Given the description of an element on the screen output the (x, y) to click on. 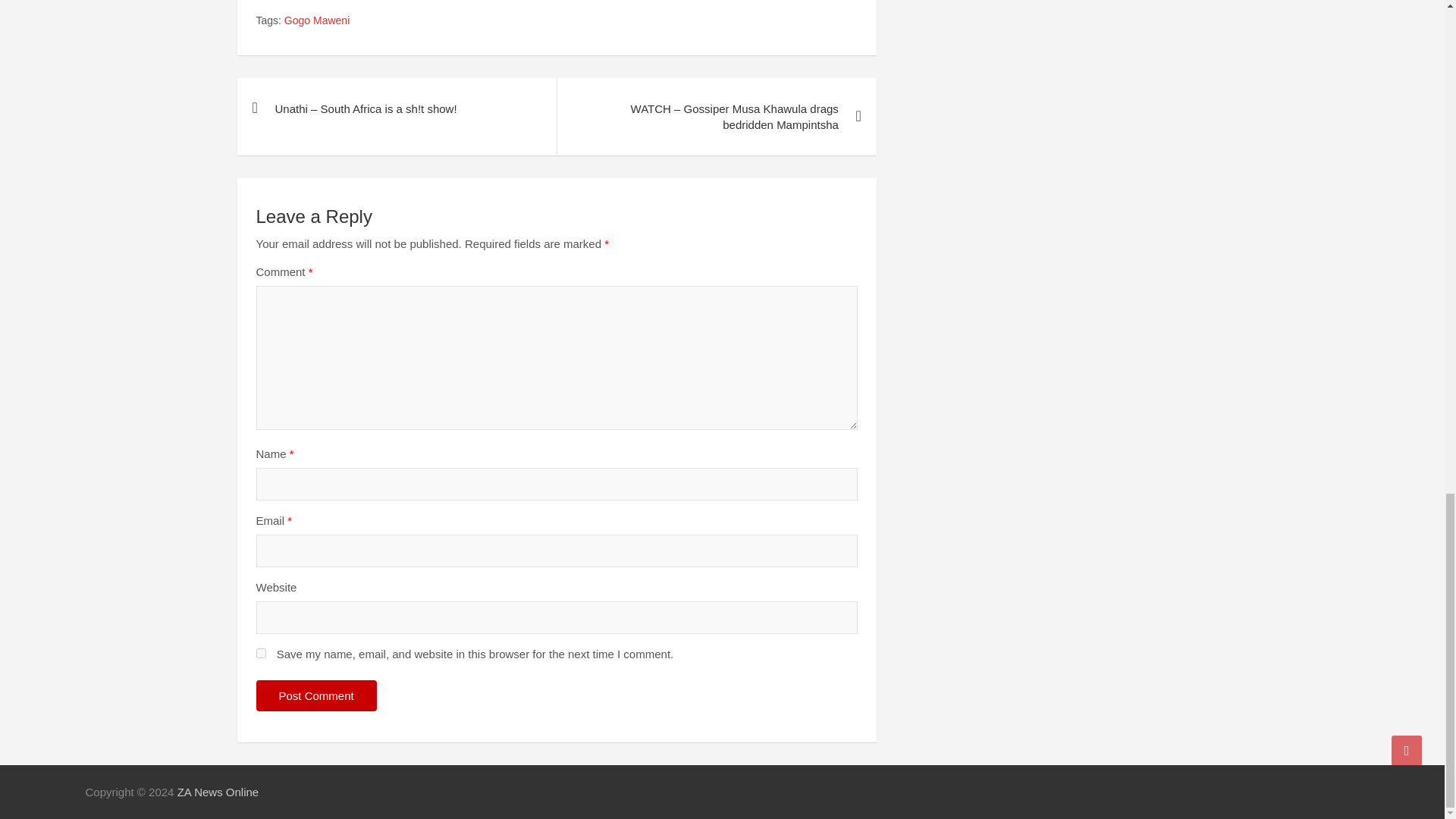
yes (261, 653)
Post Comment (316, 695)
ZA News Online (218, 791)
Post Comment (316, 695)
Gogo Maweni (316, 20)
